Given the description of an element on the screen output the (x, y) to click on. 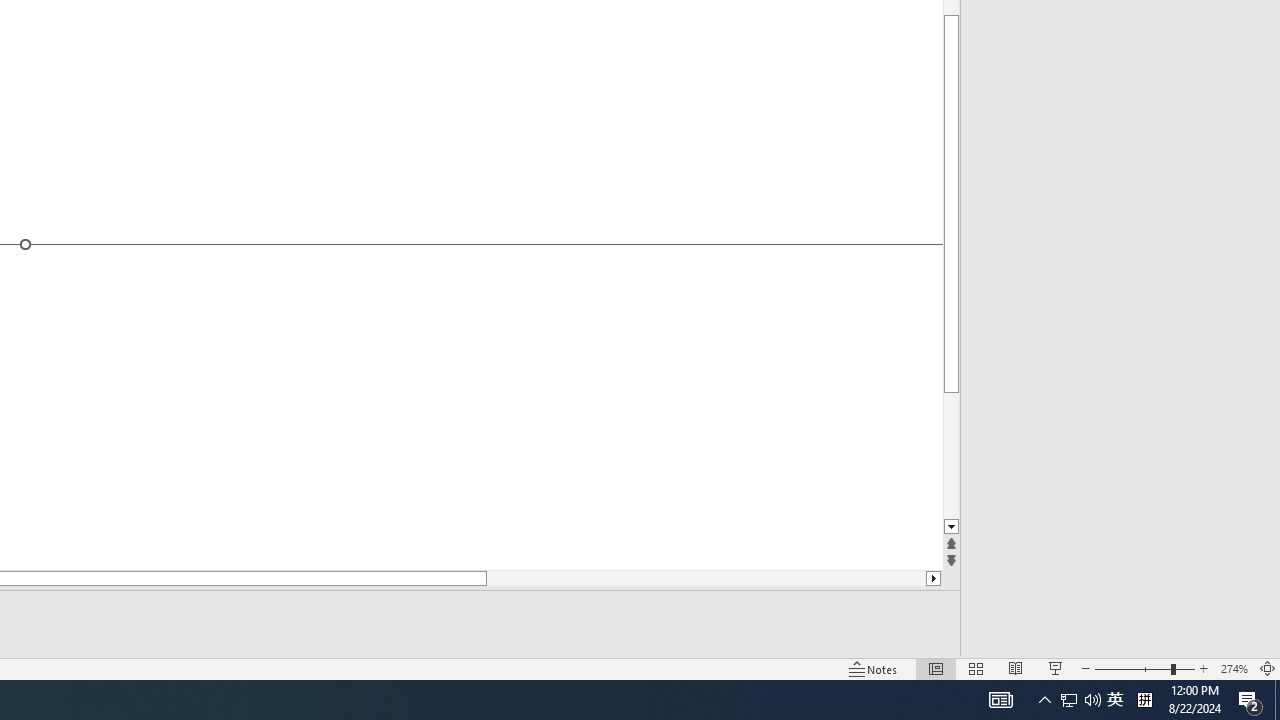
Zoom 274% (1234, 668)
